Given the description of an element on the screen output the (x, y) to click on. 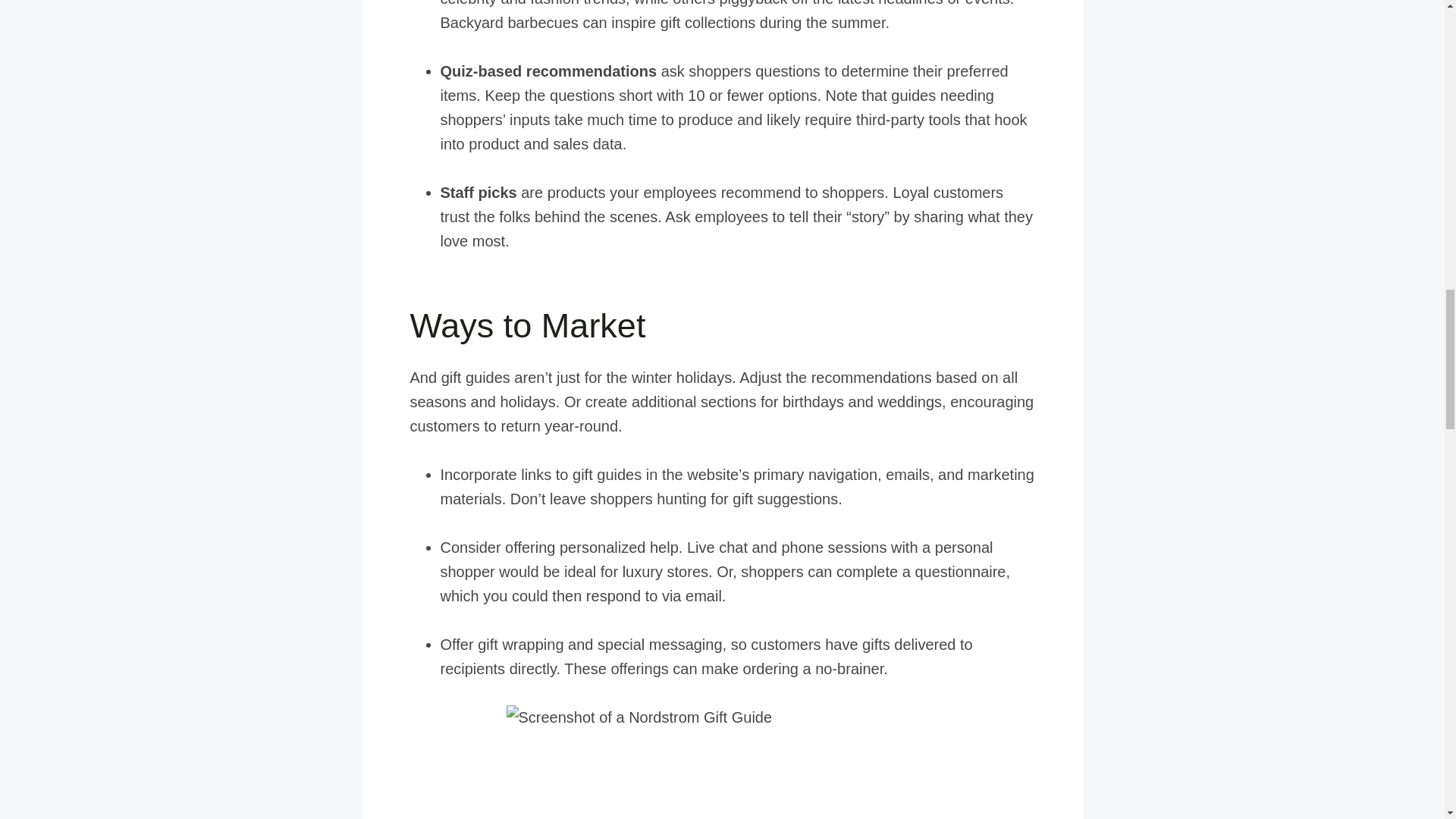
Screenshot of a Nordstrom Gift Guide (722, 762)
